Given the description of an element on the screen output the (x, y) to click on. 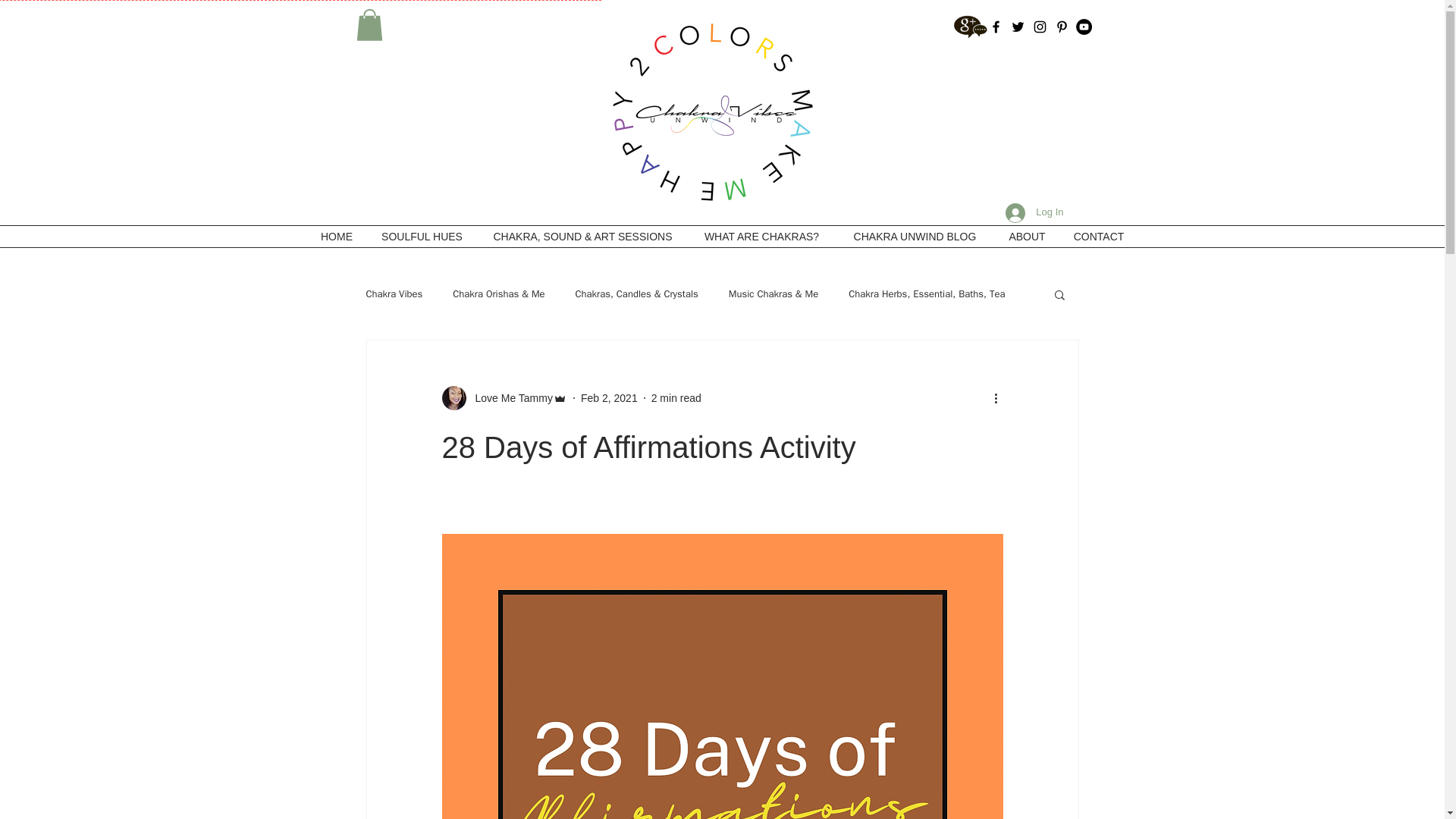
HOME (335, 236)
WHAT ARE CHAKRAS? (761, 236)
Log In (1034, 213)
ABOUT (1026, 236)
2 min read (675, 397)
SOULFUL HUES (421, 236)
Love Me Tammy (508, 397)
Feb 2, 2021 (608, 397)
Chakra Vibes (393, 294)
CONTACT (1098, 236)
